Given the description of an element on the screen output the (x, y) to click on. 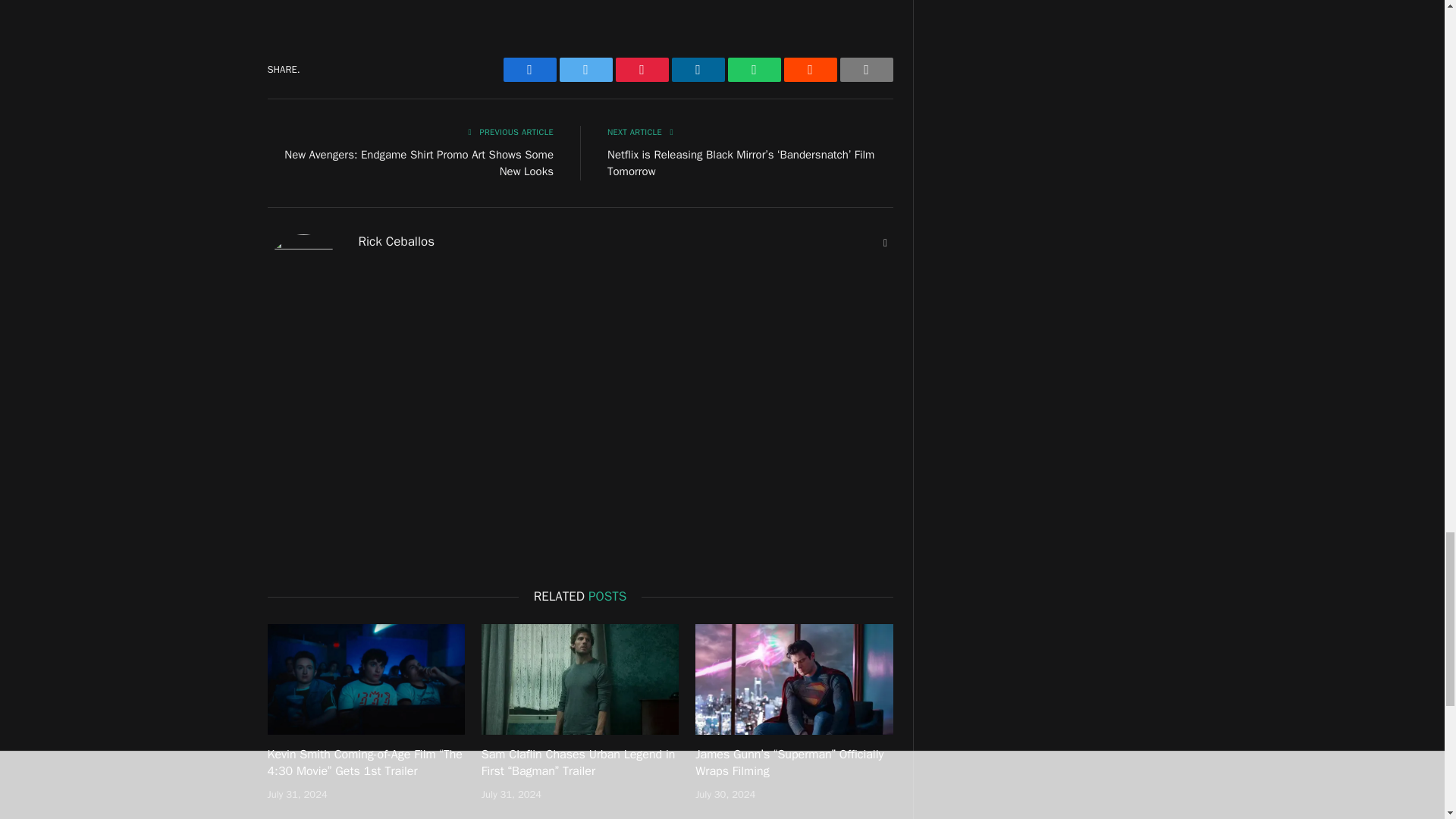
LinkedIn (698, 69)
WhatsApp (754, 69)
Share on Pinterest (641, 69)
Facebook (529, 69)
Twitter (585, 69)
Pinterest (641, 69)
Share on LinkedIn (698, 69)
Share on Facebook (529, 69)
